Given the description of an element on the screen output the (x, y) to click on. 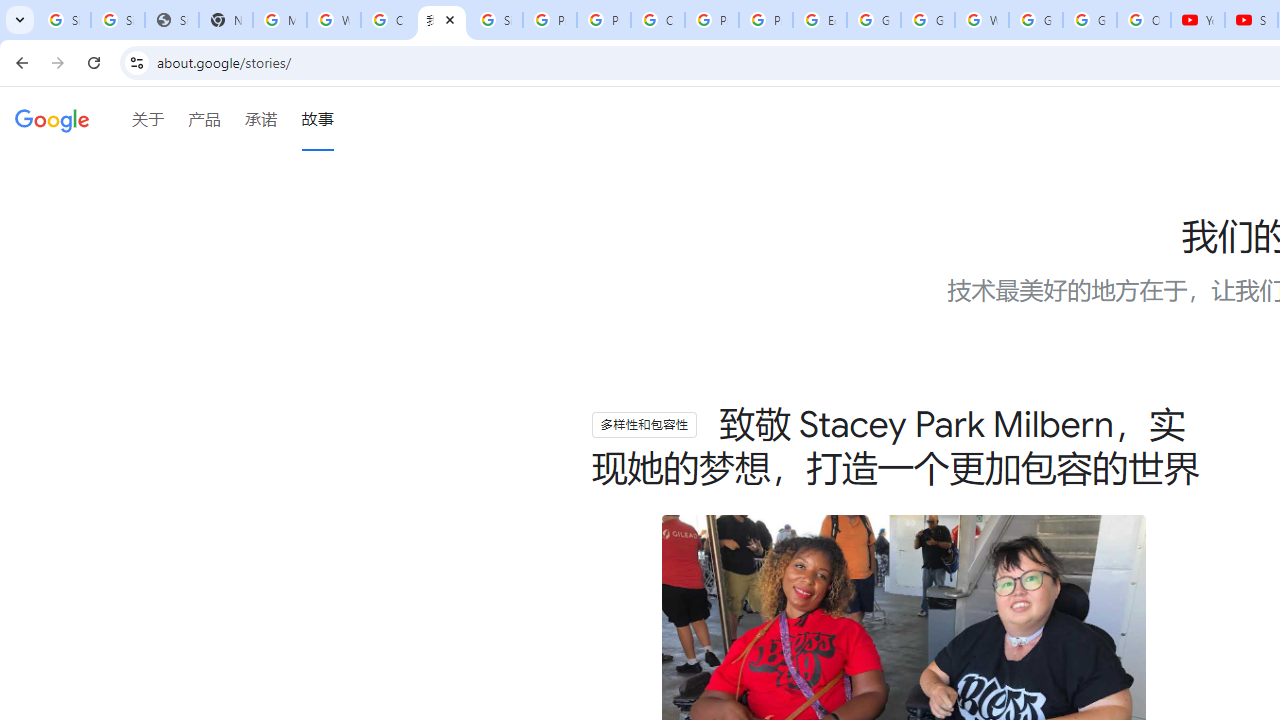
Google Account (1089, 20)
Welcome to My Activity (981, 20)
Create your Google Account (387, 20)
New Tab (225, 20)
